Given the description of an element on the screen output the (x, y) to click on. 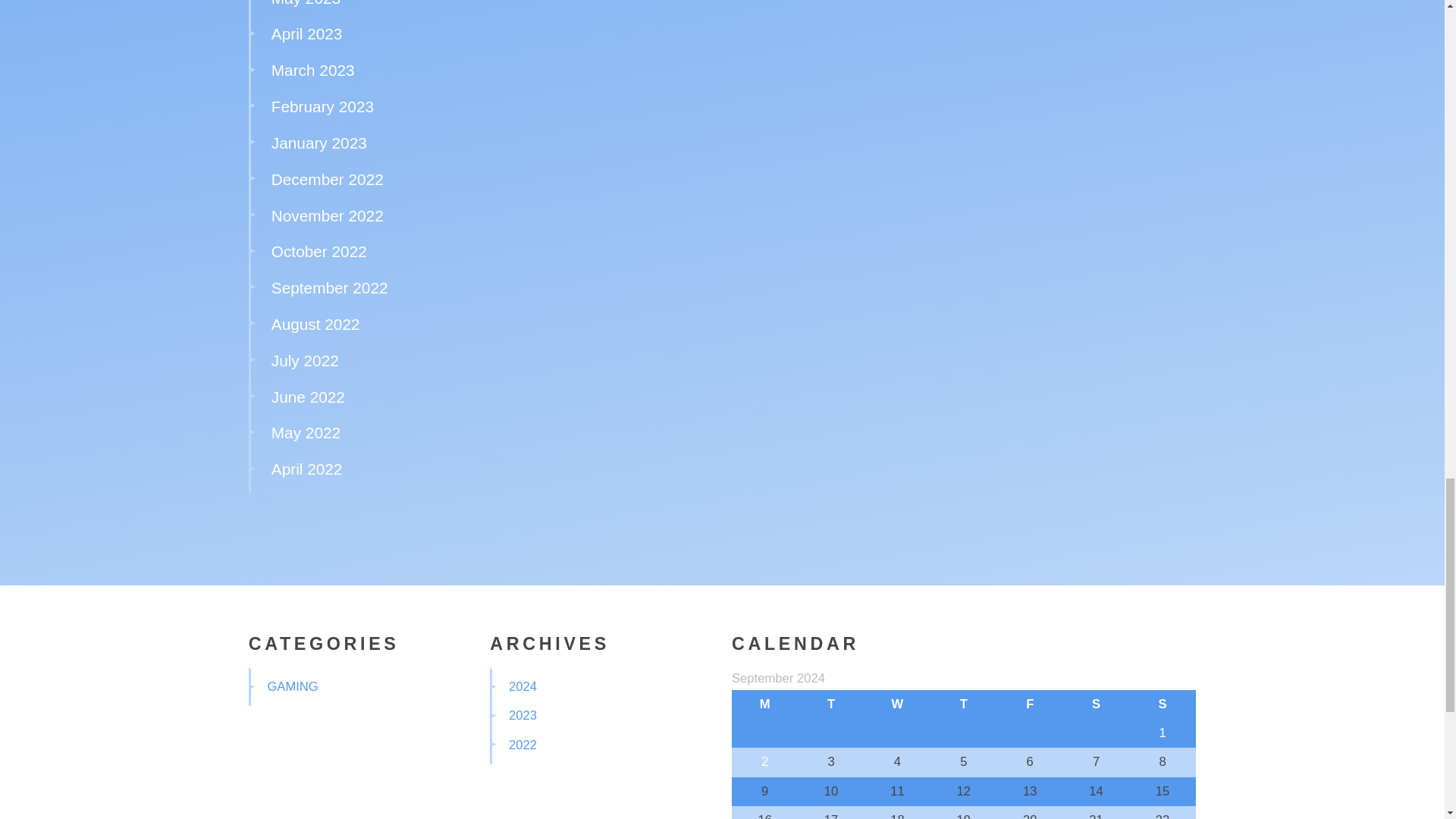
Monday (764, 704)
Wednesday (897, 704)
September 2022 (329, 287)
Thursday (962, 704)
November 2022 (327, 215)
Saturday (1095, 704)
June 2022 (307, 396)
May 2022 (305, 432)
August 2022 (314, 323)
March 2023 (312, 69)
